Given the description of an element on the screen output the (x, y) to click on. 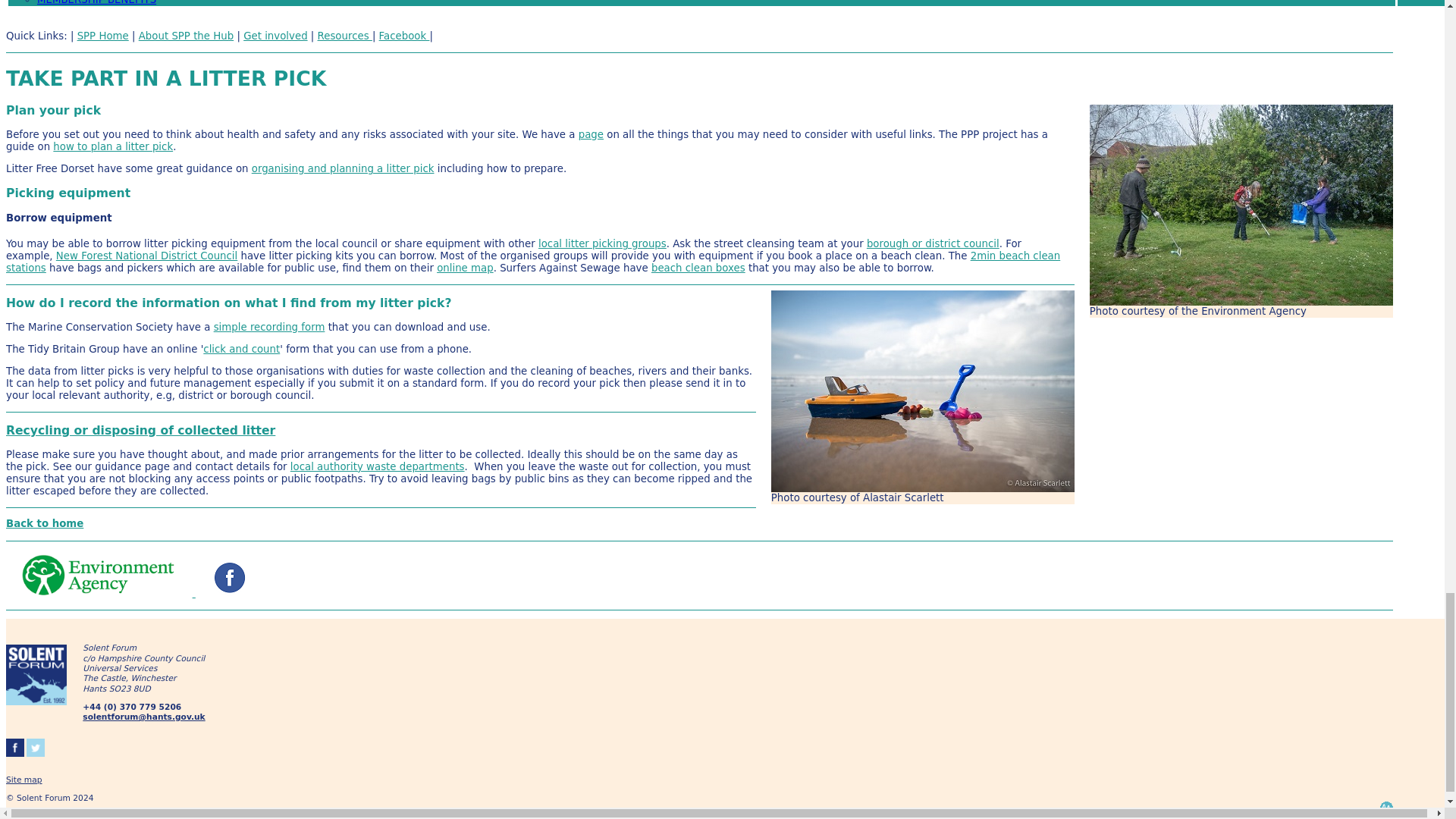
GeoData logo (1386, 807)
